Given the description of an element on the screen output the (x, y) to click on. 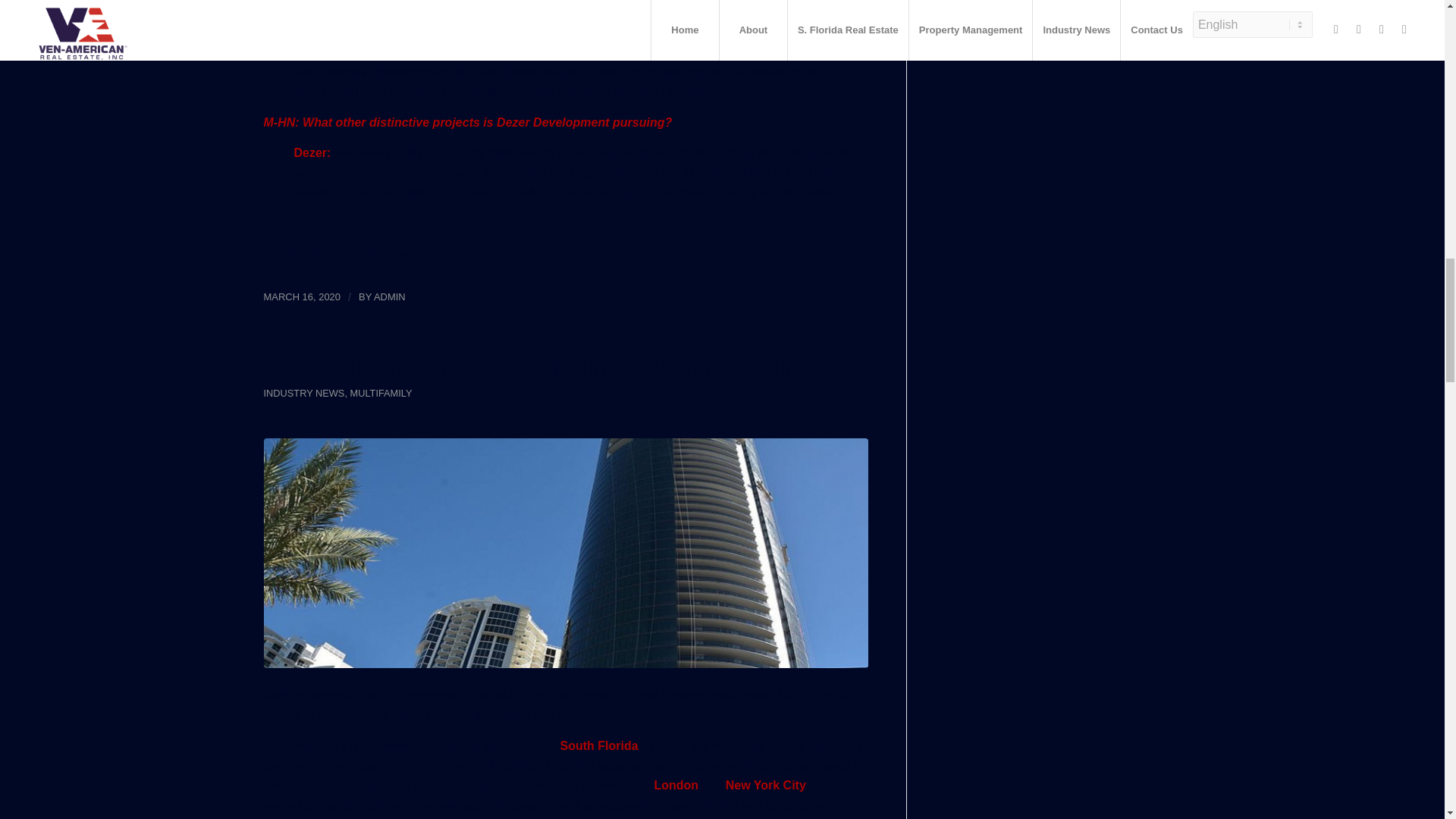
For High-End Branded Buildings, Miami Reigns (534, 366)
ADMIN (390, 296)
INDUSTRY NEWS (304, 392)
Multi-Housing News (362, 252)
Permanent Link: For High-End Branded Buildings, Miami Reigns (534, 366)
Posts by ADMIN (390, 296)
MULTIFAMILY (381, 392)
